Given the description of an element on the screen output the (x, y) to click on. 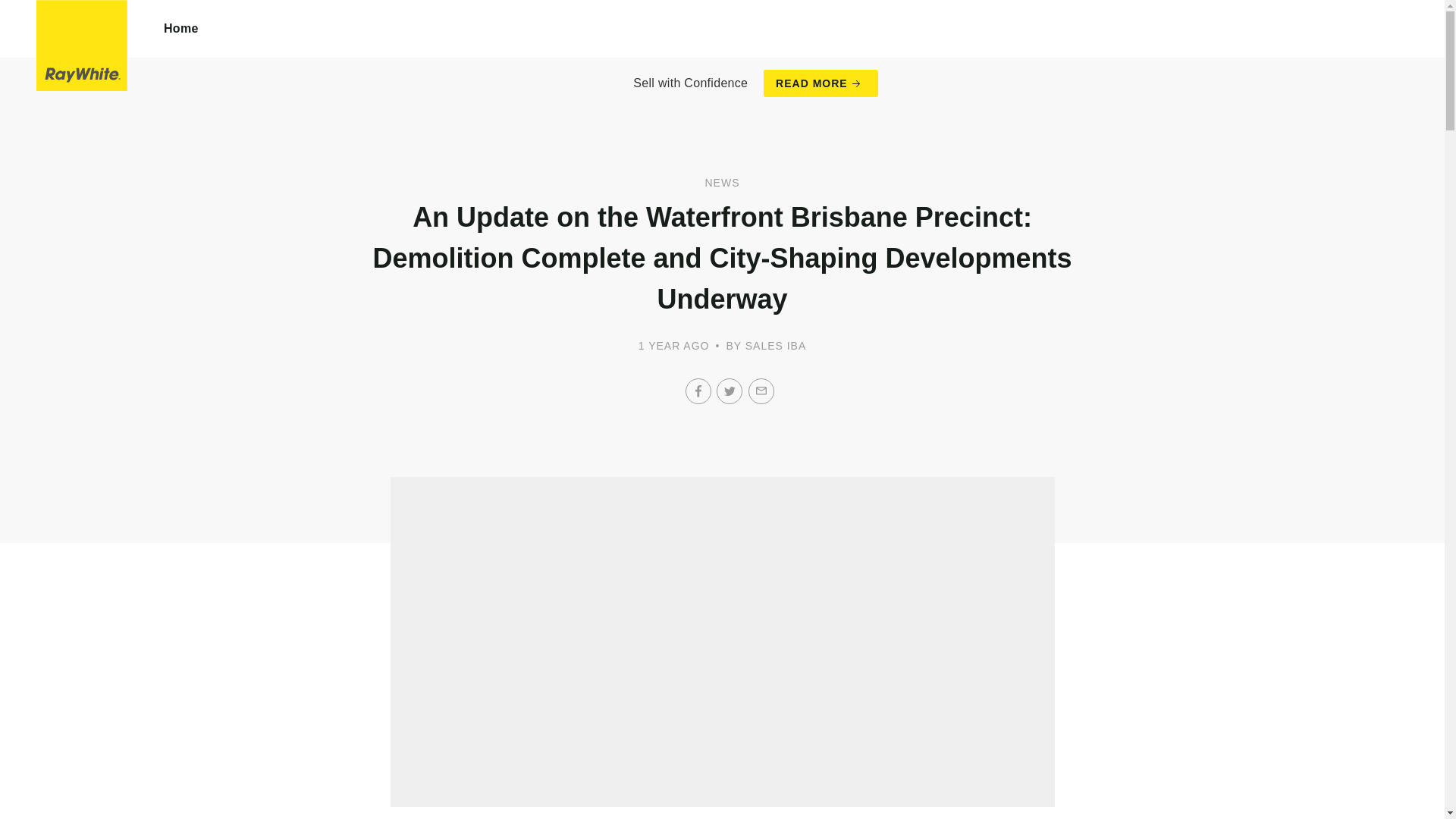
Twitter (729, 391)
Ray White Inner Brisbane Apartments (82, 45)
Facebook (698, 391)
READ MORE (819, 83)
Email (761, 391)
Home (180, 28)
